Given the description of an element on the screen output the (x, y) to click on. 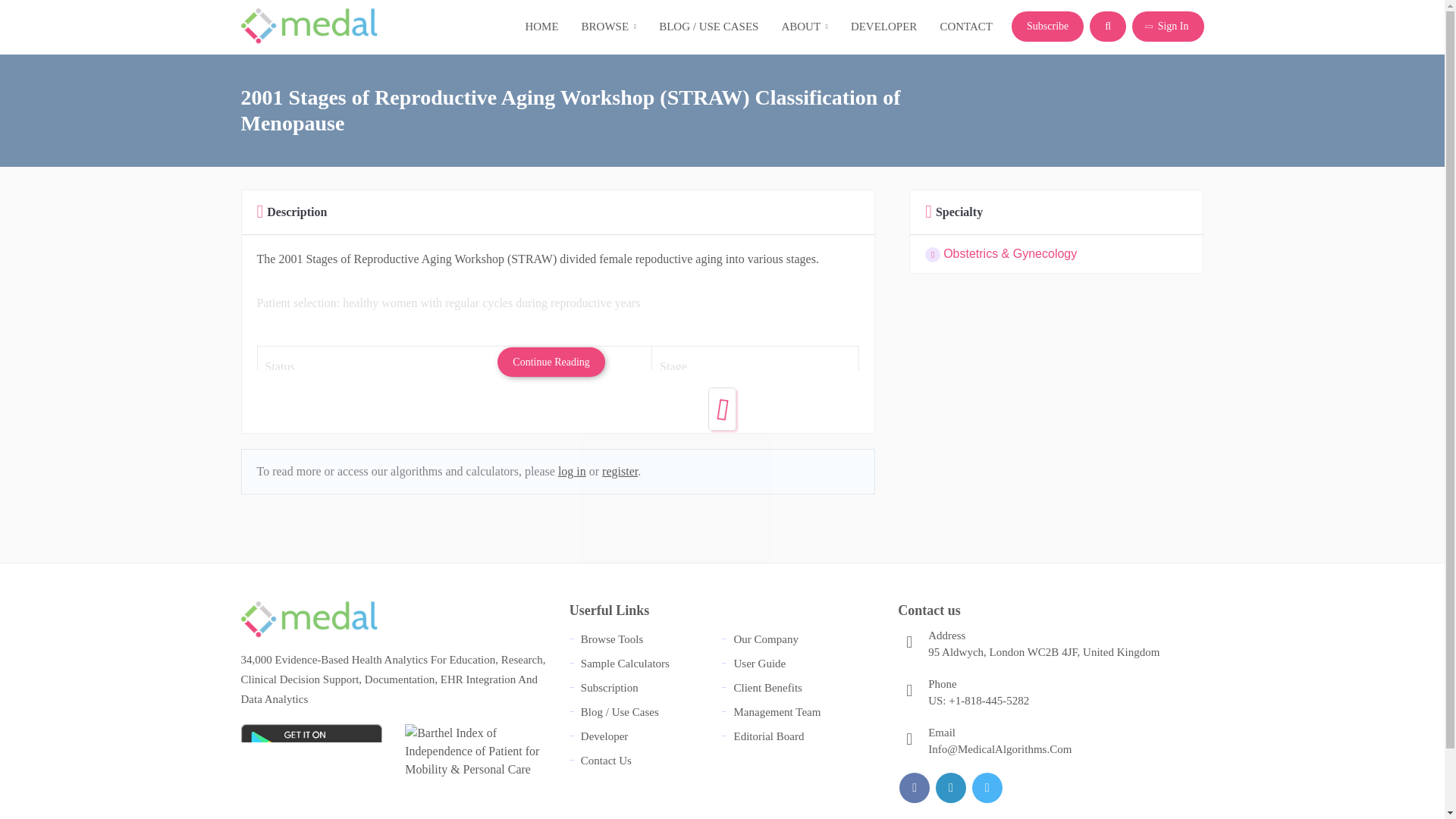
BROWSE (608, 26)
User Guide (759, 663)
HOME (541, 26)
Browse Tools (611, 639)
log in (571, 471)
Management Team (777, 711)
CONTACT (966, 26)
Subscribe (1047, 26)
Developer (603, 736)
DEVELOPER (884, 26)
